Given the description of an element on the screen output the (x, y) to click on. 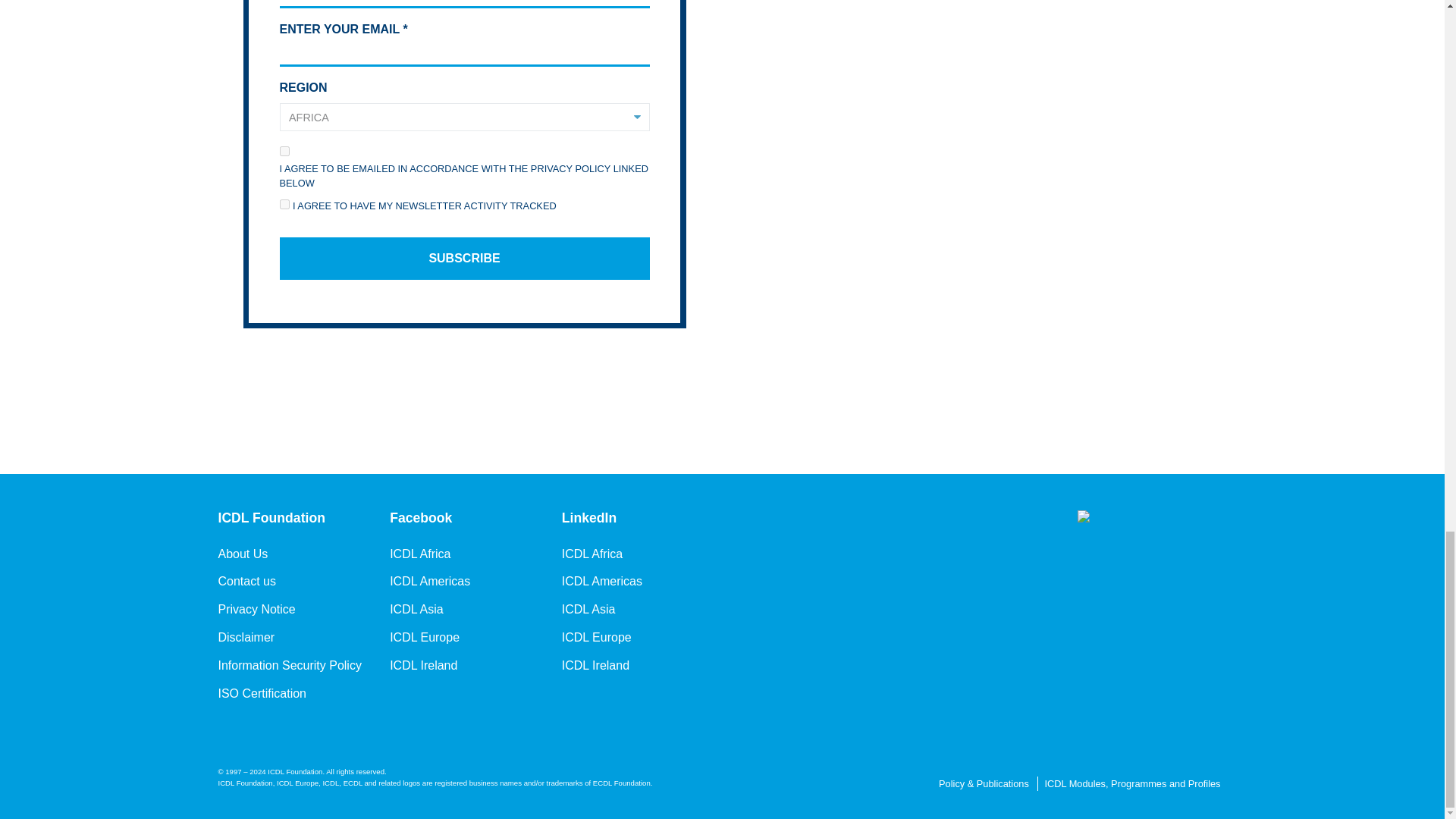
ICDL Americas (430, 581)
SUBSCRIBE (464, 258)
About Us (242, 554)
on (283, 151)
Disclaimer (246, 637)
ICDL Africa (419, 554)
Privacy Notice (256, 609)
ICDL Africa (592, 554)
Information Security Policy (289, 665)
ICDL Ireland (423, 665)
ICDL Europe (425, 637)
ICDL Europe (596, 637)
on (283, 204)
Contact us (247, 581)
ISO Certification (261, 693)
